Given the description of an element on the screen output the (x, y) to click on. 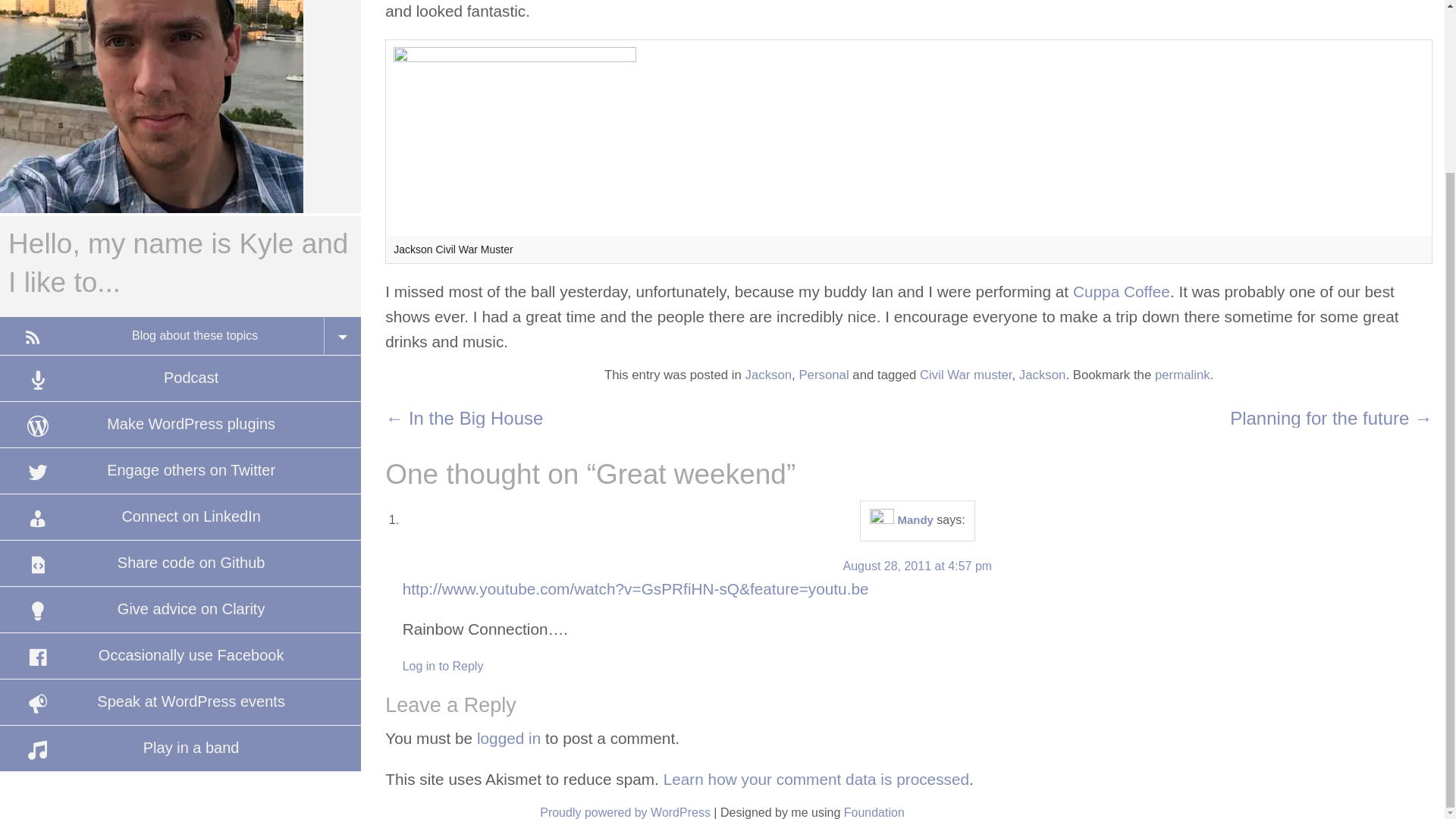
Engage others on Twitter (180, 470)
Share code on Github (180, 563)
Blog about these topics (180, 335)
Make WordPress plugins (180, 424)
Connect on LinkedIn (180, 516)
Podcast (180, 378)
Speak at WordPress events (180, 701)
Give advice on Clarity (180, 609)
Play in a band (180, 748)
Occasionally use Facebook (180, 655)
